Given the description of an element on the screen output the (x, y) to click on. 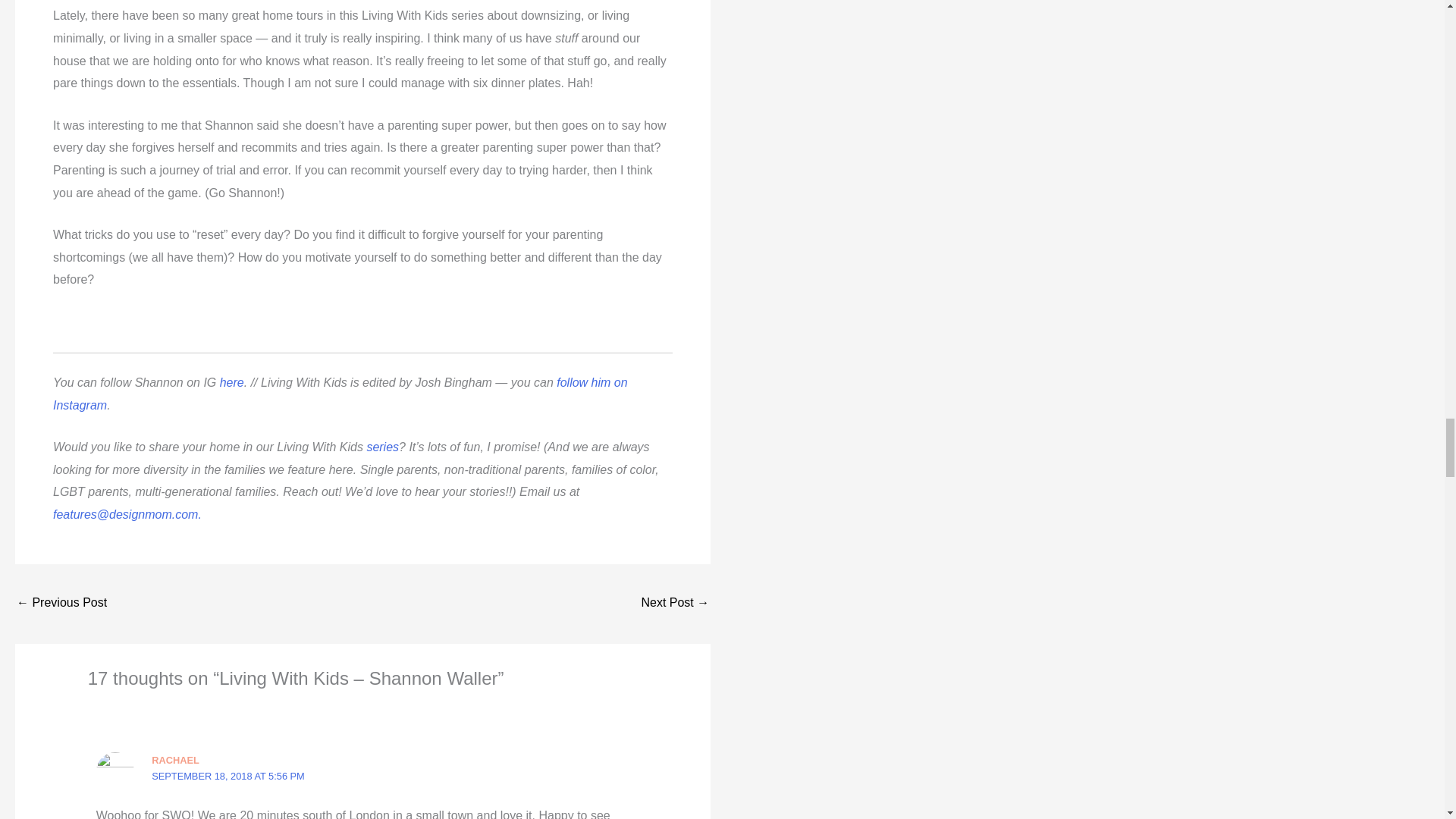
If Only Every Factory Was As Mindful As The Method Factory (61, 603)
How Long do You Want to Live? (674, 603)
